Given the description of an element on the screen output the (x, y) to click on. 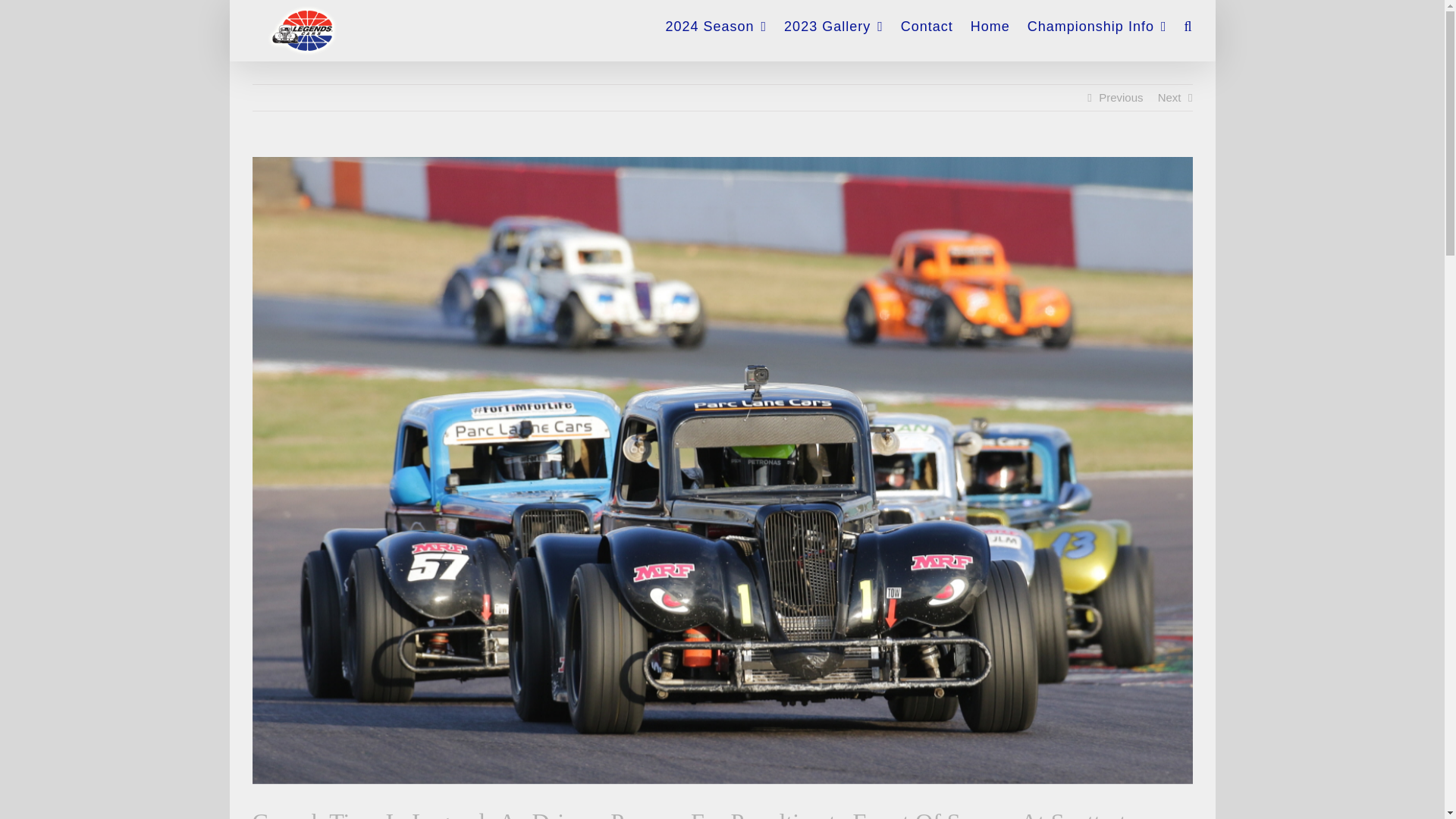
2024 Season (716, 21)
